Given the description of an element on the screen output the (x, y) to click on. 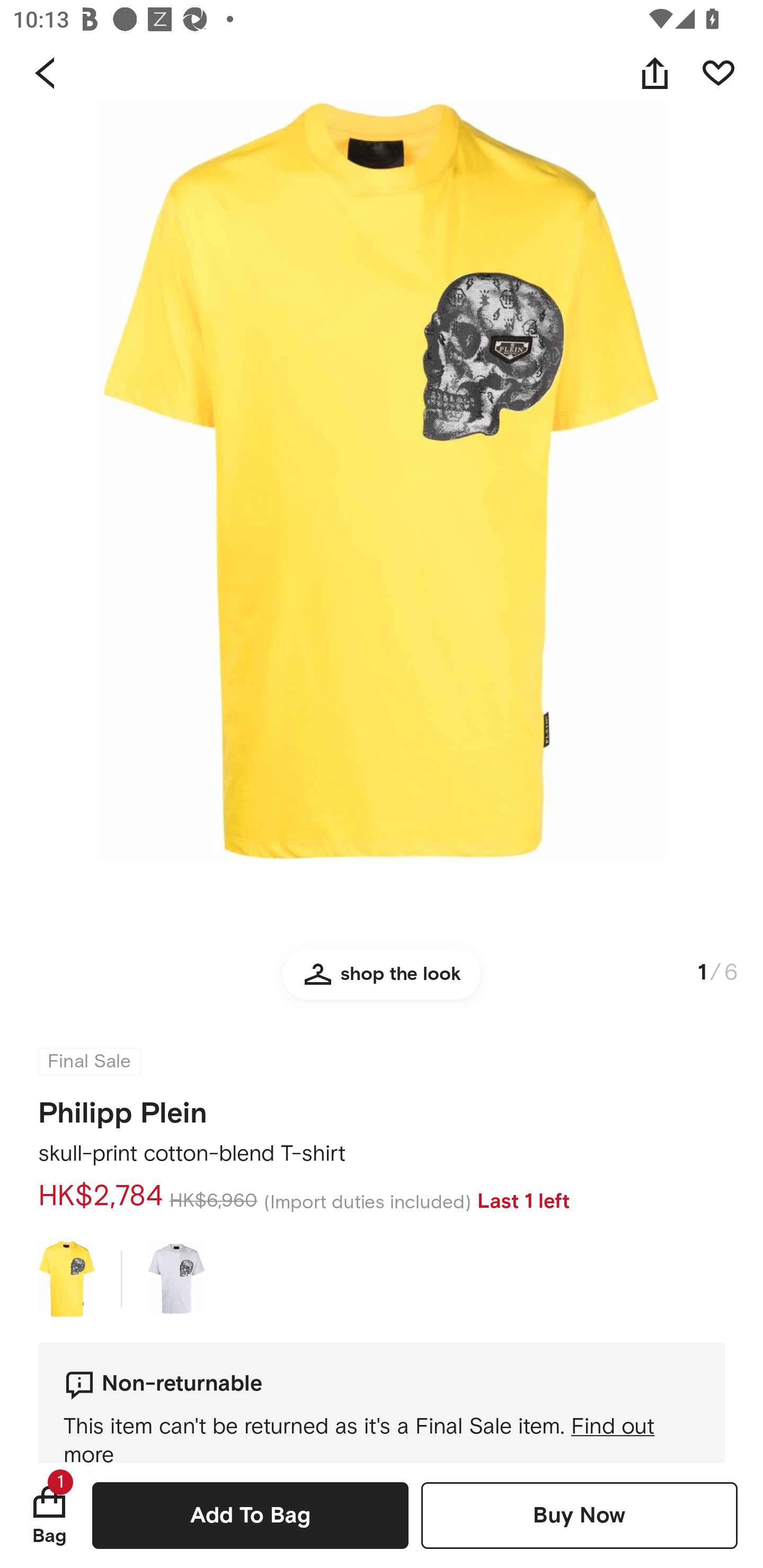
shop the look (381, 982)
Philipp Plein (122, 1107)
Bag 1 (49, 1515)
Add To Bag (250, 1515)
Buy Now (579, 1515)
